Given the description of an element on the screen output the (x, y) to click on. 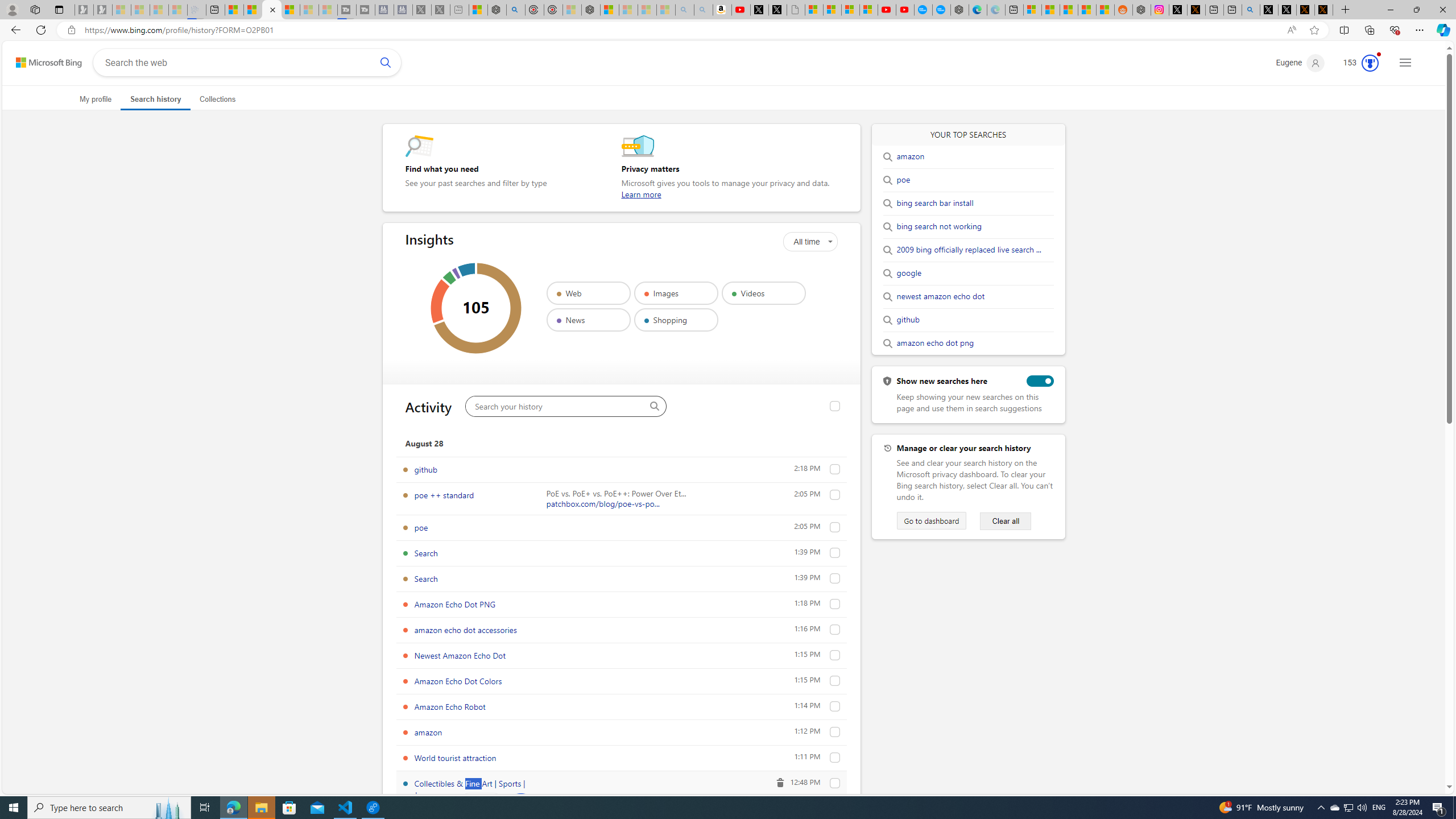
Settings and more (Alt+F) (1419, 29)
New tab - Sleeping (459, 9)
Collections (1369, 29)
Workspaces (34, 9)
Shanghai, China Weather trends | Microsoft Weather (1105, 9)
help.x.com | 524: A timeout occurred (1195, 9)
World tourist attraction (834, 757)
Search (425, 578)
Class: el_arc partner-shopping (465, 269)
Gloom - YouTube (887, 9)
Class: el_arc partner-videos (449, 277)
App bar (728, 29)
